Given the description of an element on the screen output the (x, y) to click on. 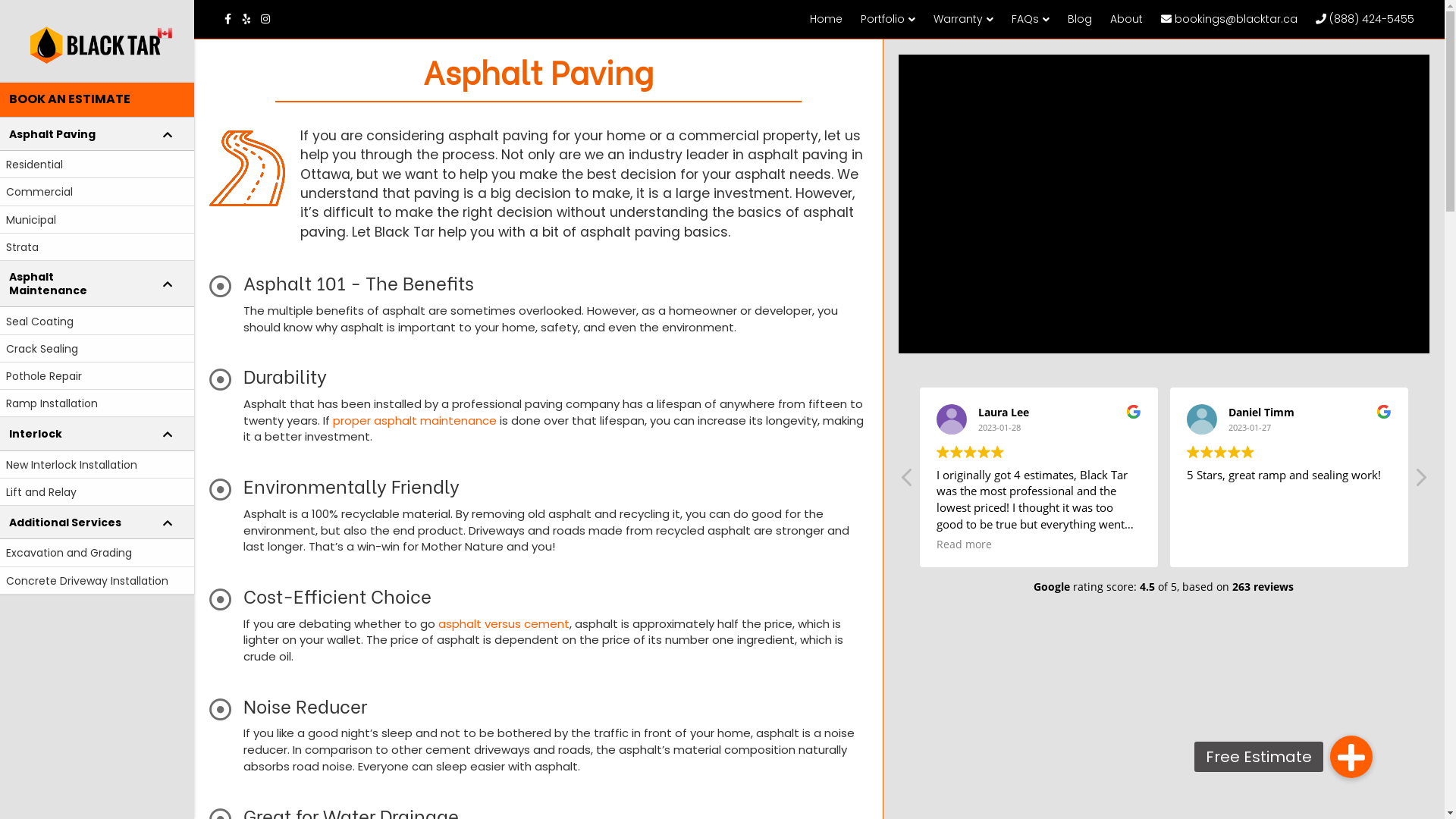
About Element type: text (1126, 18)
BOOK AN ESTIMATE Element type: text (97, 99)
Municipal Element type: text (97, 219)
FAQs Element type: text (1030, 18)
(888) 424-5455 Element type: text (1364, 18)
Strata Element type: text (97, 246)
bookings@blacktar.ca Element type: text (1229, 18)
Yelp Element type: text (251, 17)
Portfolio Element type: text (887, 18)
Interlock Element type: text (97, 433)
Free Estimate Element type: text (1351, 756)
Commercial Element type: text (97, 191)
Blog Element type: text (1079, 18)
Ramp Installation Element type: text (97, 403)
Excavation and Grading Element type: text (97, 552)
Lift and Relay Element type: text (97, 491)
Asphalt Paving Element type: text (97, 133)
Additional Services Element type: text (97, 522)
Residential Element type: text (97, 164)
Home Element type: text (826, 18)
Concrete Driveway Installation Element type: text (97, 580)
Instagram Element type: text (269, 17)
Seal Coating Element type: text (97, 320)
Facebook Element type: text (233, 17)
proper asphalt maintenance Element type: text (414, 420)
Asphalt Maintenance Element type: text (97, 283)
Pothole Repair Element type: text (97, 375)
Crack Sealing Element type: text (97, 348)
asphalt versus cement Element type: text (503, 623)
New Interlock Installation Element type: text (97, 464)
Warranty Element type: text (963, 18)
